Given the description of an element on the screen output the (x, y) to click on. 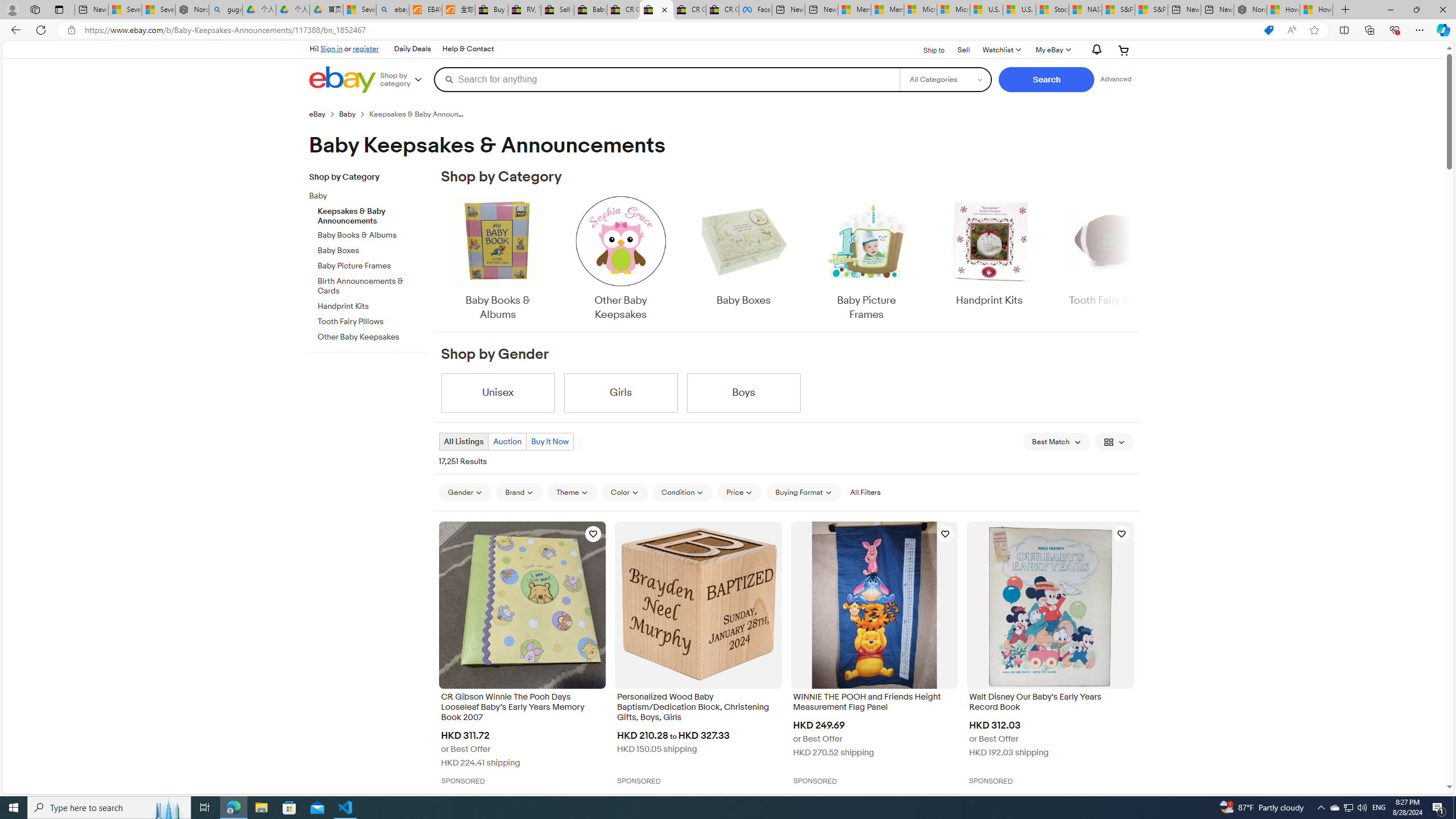
Brand (519, 492)
Search for anything (666, 78)
Your shopping cart (1123, 49)
Girls (620, 392)
Daily Deals (412, 49)
Theme (572, 492)
guge yunpan - Search (225, 9)
Minimize (1390, 9)
WINNIE THE POOH and Friends Height Measurement Flag Panel (874, 703)
Auction (507, 441)
